Given the description of an element on the screen output the (x, y) to click on. 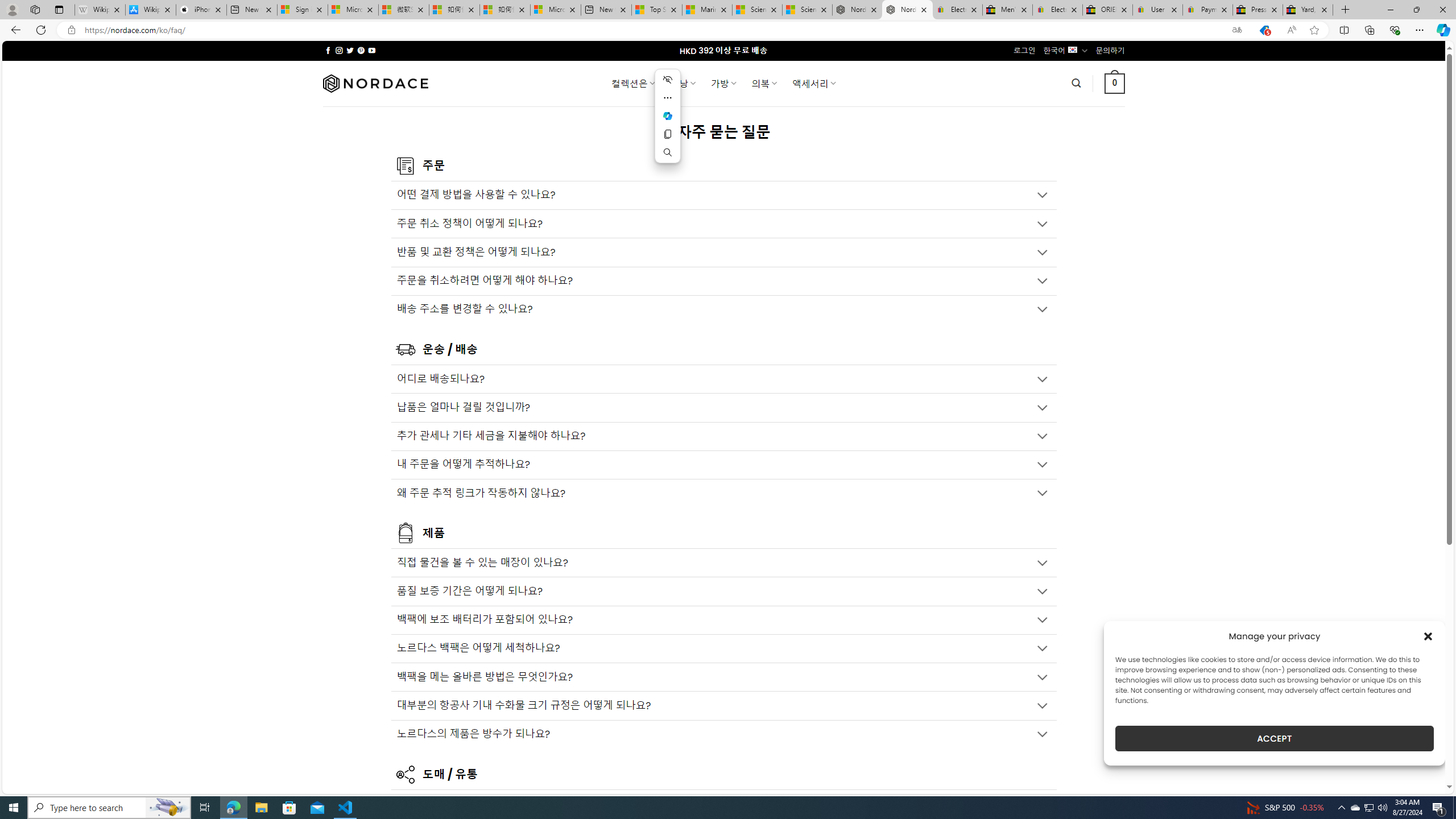
Marine life - MSN (706, 9)
Yard, Garden & Outdoor Living (1308, 9)
User Privacy Notice | eBay (1158, 9)
